Given the description of an element on the screen output the (x, y) to click on. 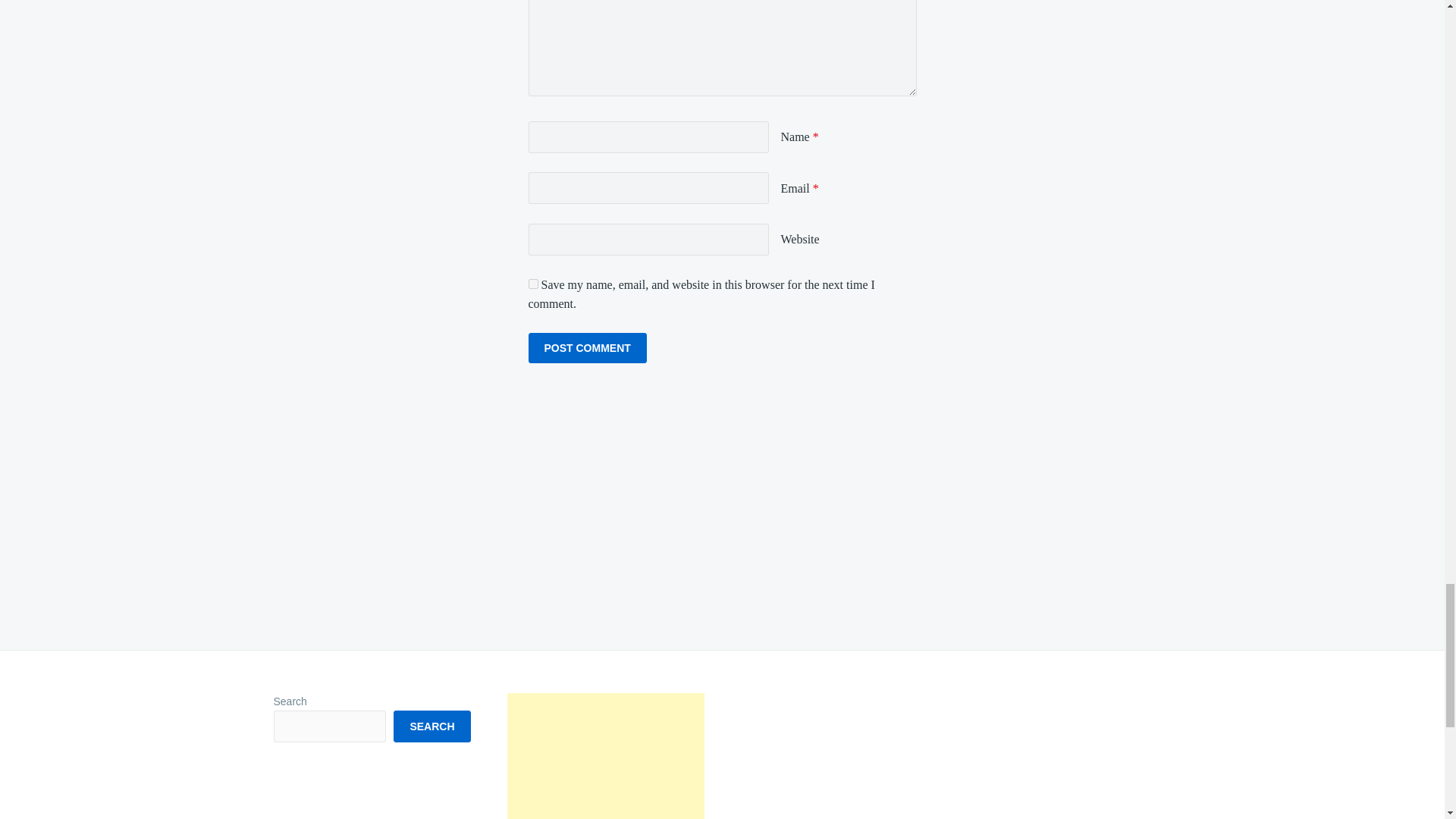
yes (532, 284)
SEARCH (431, 726)
Post Comment (586, 347)
Post Comment (586, 347)
